Given the description of an element on the screen output the (x, y) to click on. 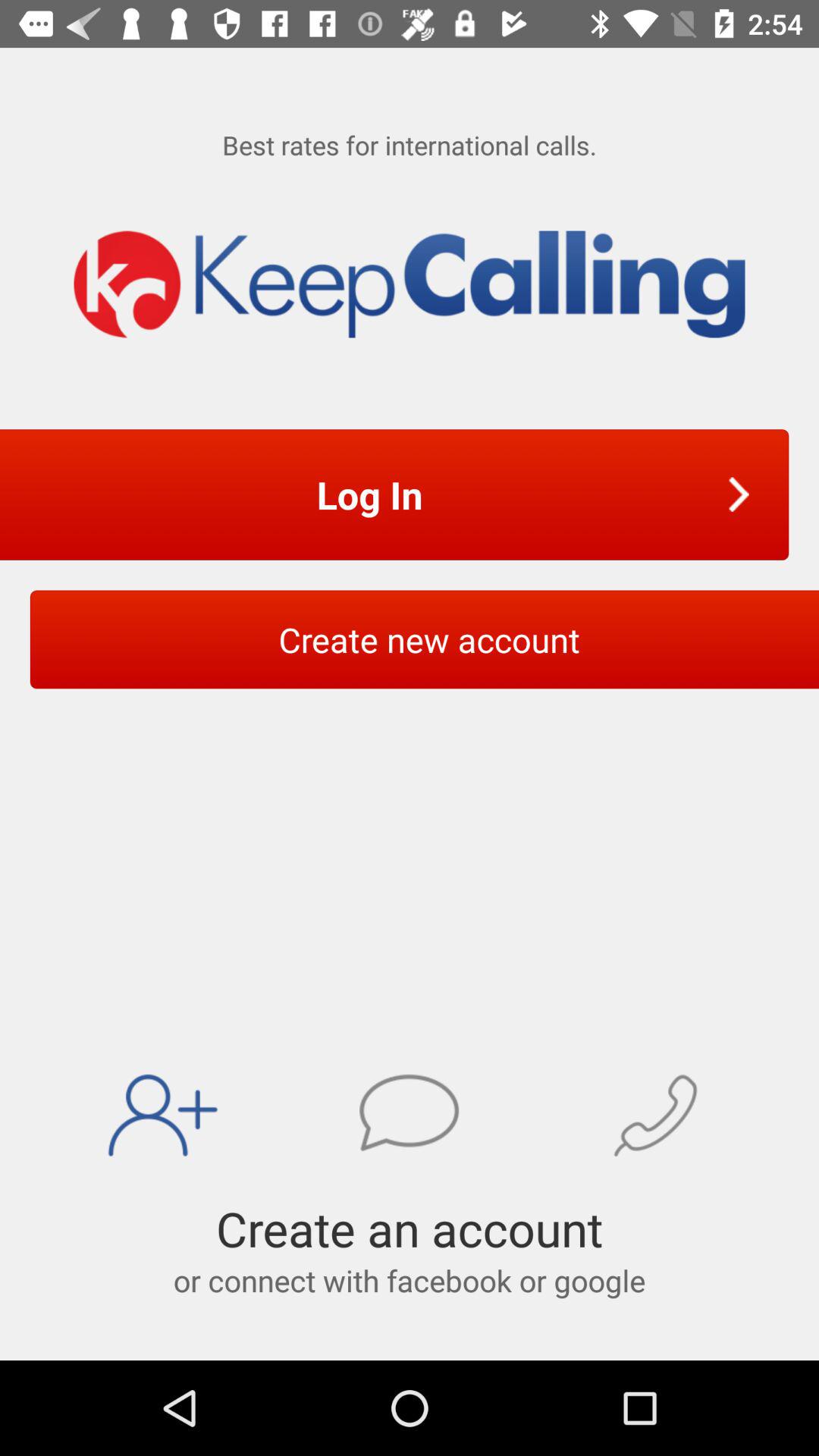
swipe to the log in (374, 494)
